Given the description of an element on the screen output the (x, y) to click on. 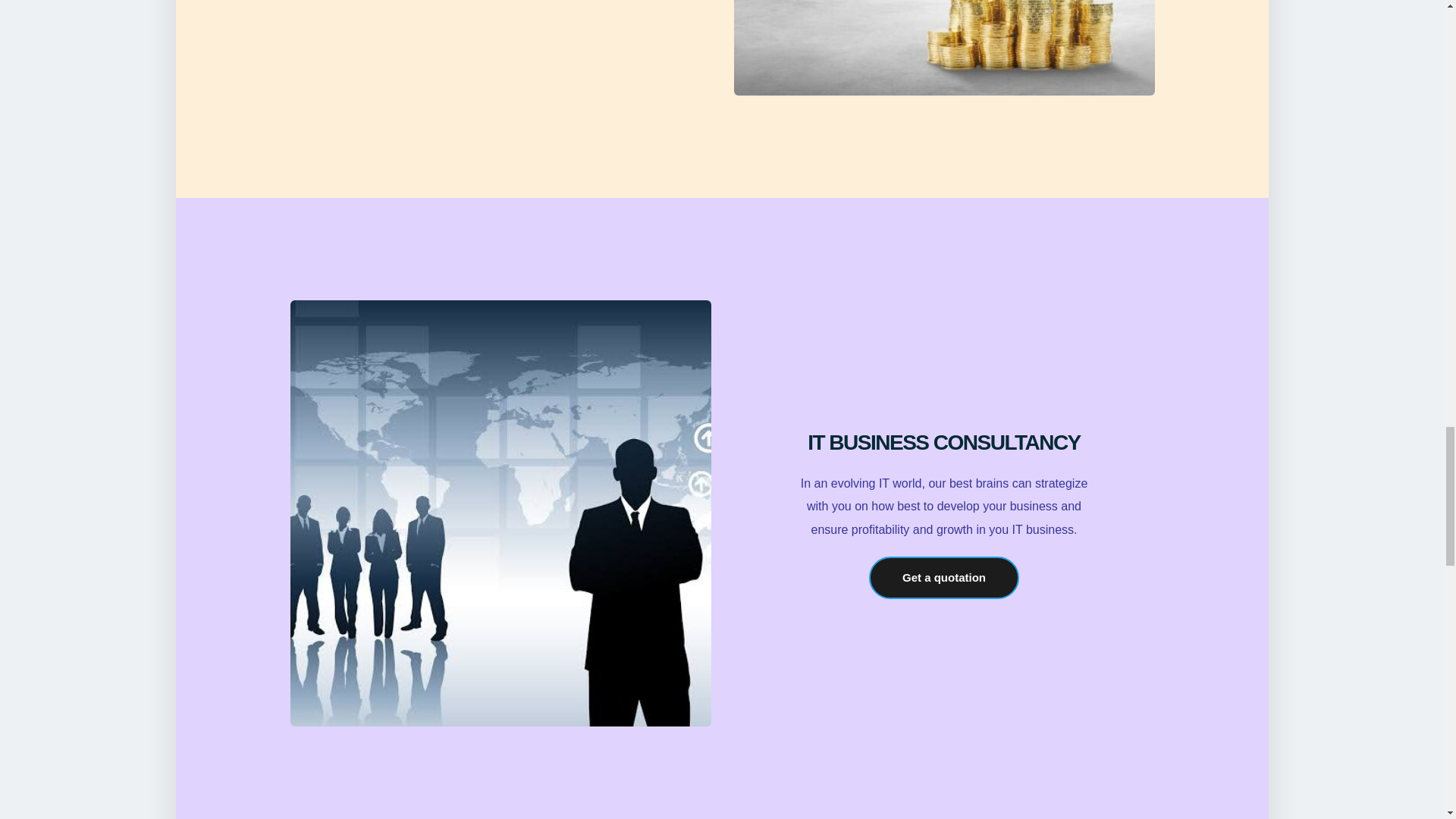
Get a quotation (944, 577)
